Given the description of an element on the screen output the (x, y) to click on. 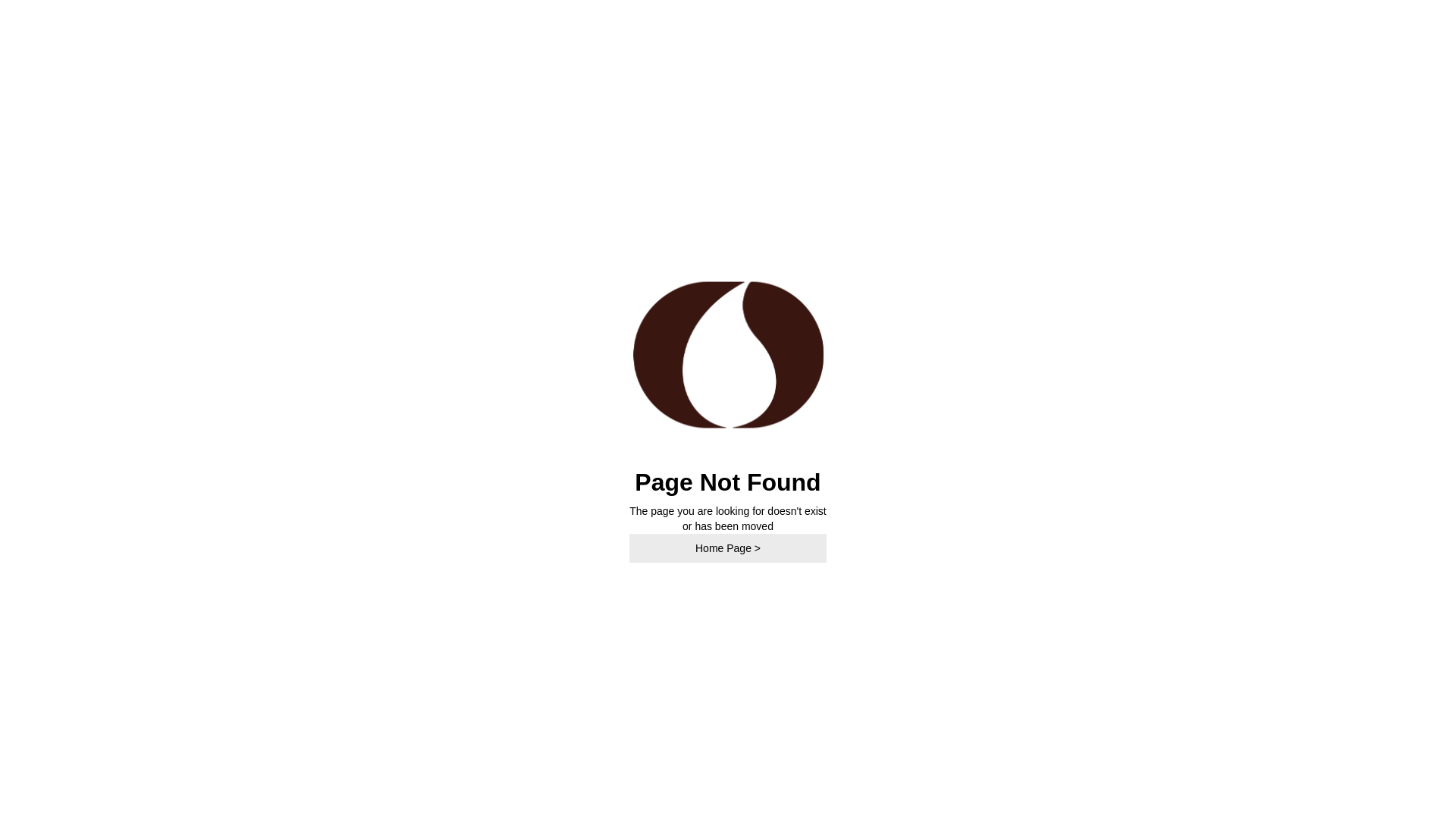
Home Page > Element type: text (727, 547)
